Given the description of an element on the screen output the (x, y) to click on. 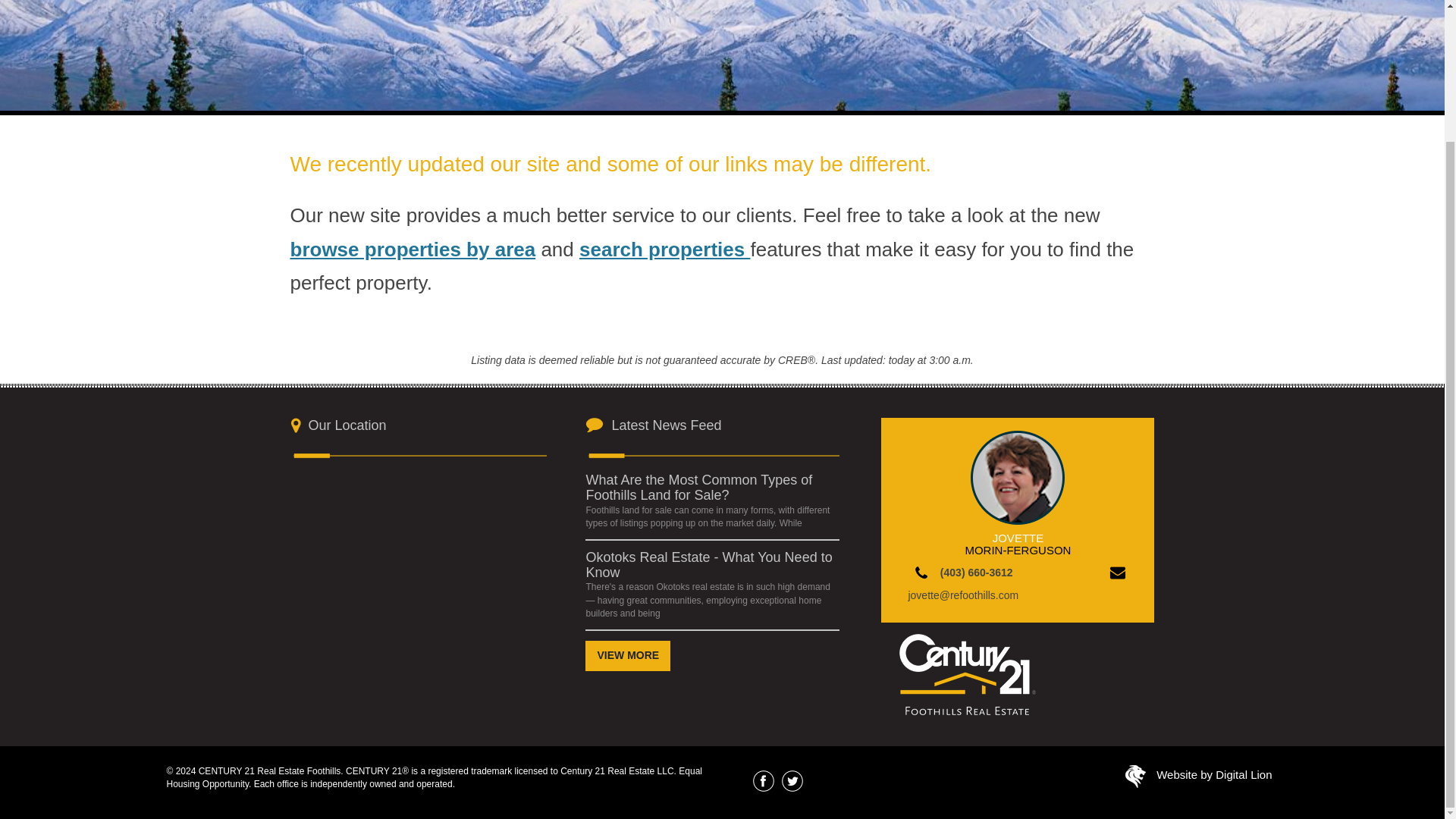
search properties (664, 249)
browse properties by area (412, 249)
Real Estate Website Development (1213, 774)
Real Estate Website Development (1135, 779)
VIEW MORE (627, 655)
Website by Digital Lion (1213, 774)
